Given the description of an element on the screen output the (x, y) to click on. 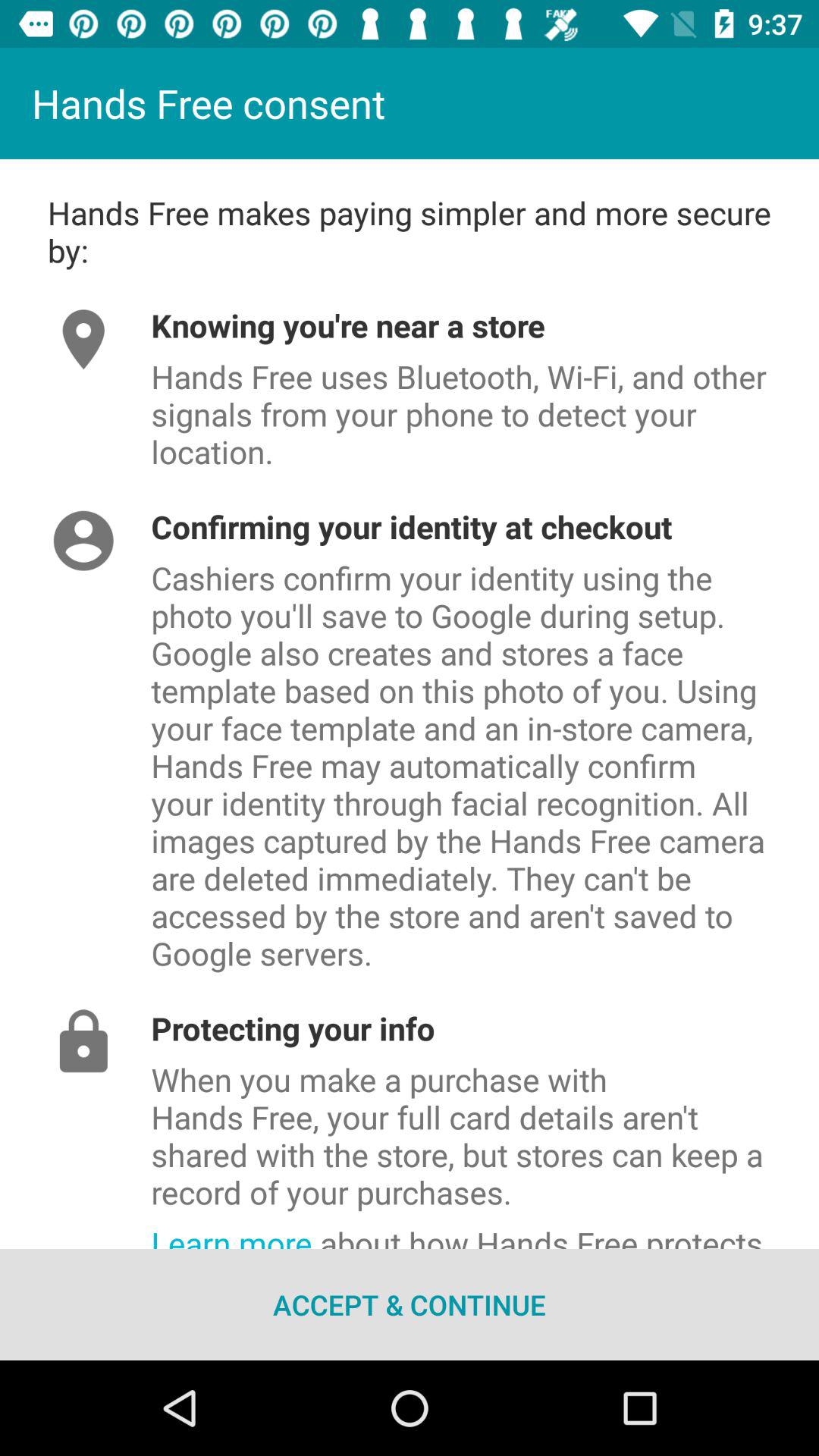
flip to learn more about item (485, 1230)
